Given the description of an element on the screen output the (x, y) to click on. 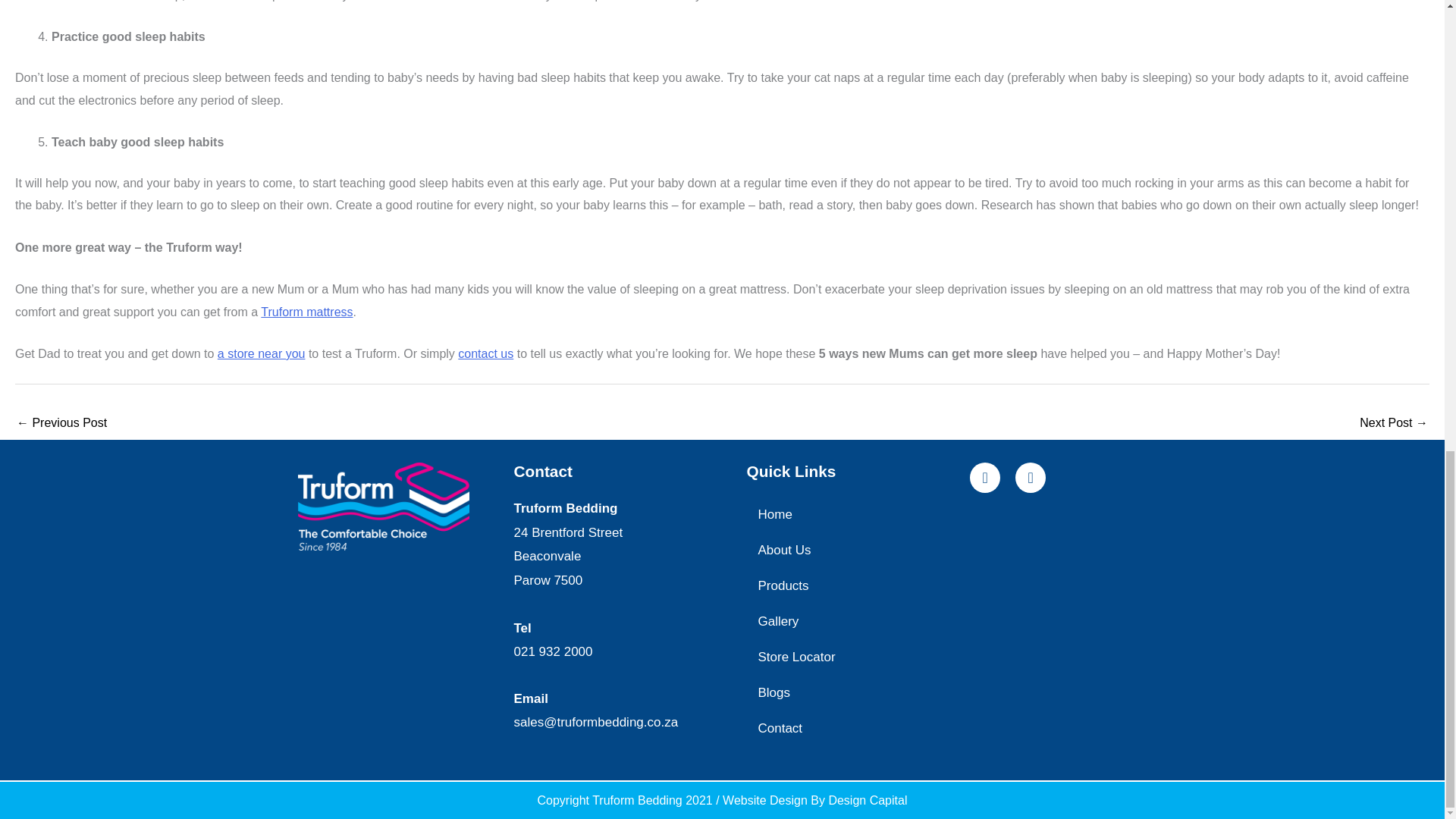
contact us (485, 353)
Truform mattress (306, 311)
Contact (850, 728)
a store near you (260, 353)
Home (850, 514)
Products (850, 585)
Facebook-f (984, 477)
021 932 2000 (552, 651)
Blogs (850, 692)
Gallery (850, 621)
Store Locator (850, 656)
Envelope (1029, 477)
About Us (850, 550)
